Given the description of an element on the screen output the (x, y) to click on. 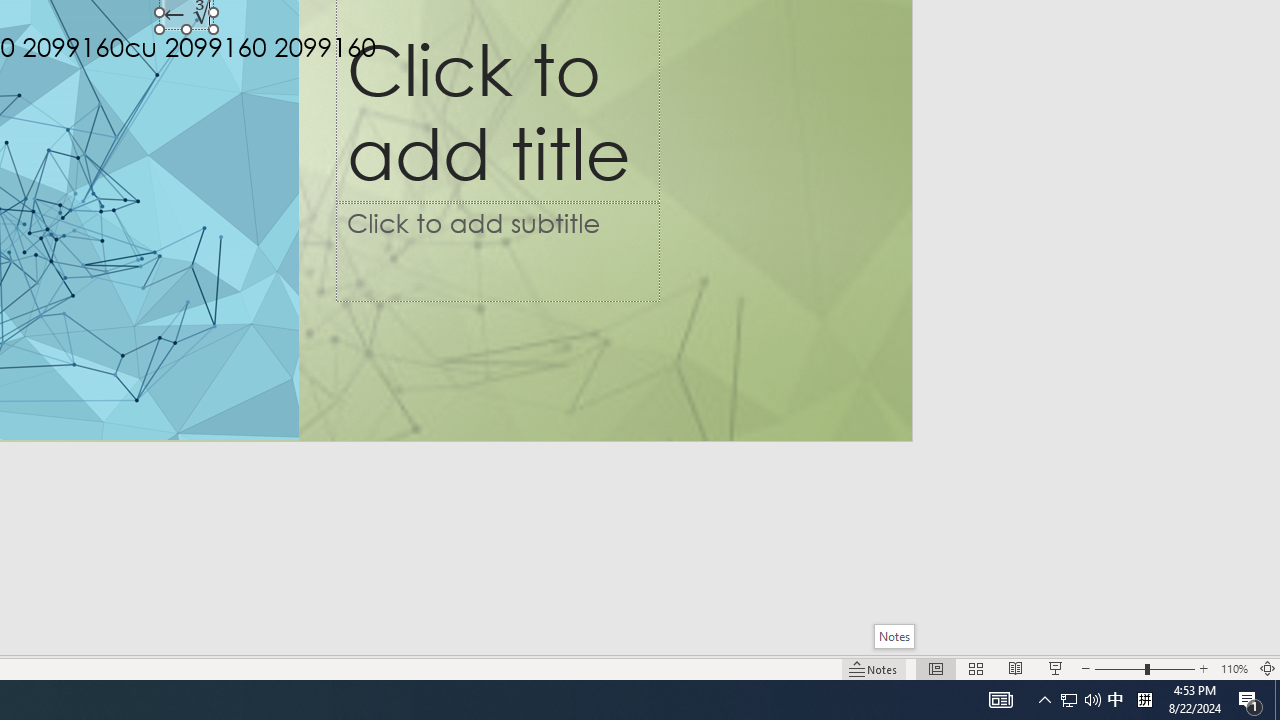
Zoom 110% (1234, 668)
Notes (894, 636)
